Given the description of an element on the screen output the (x, y) to click on. 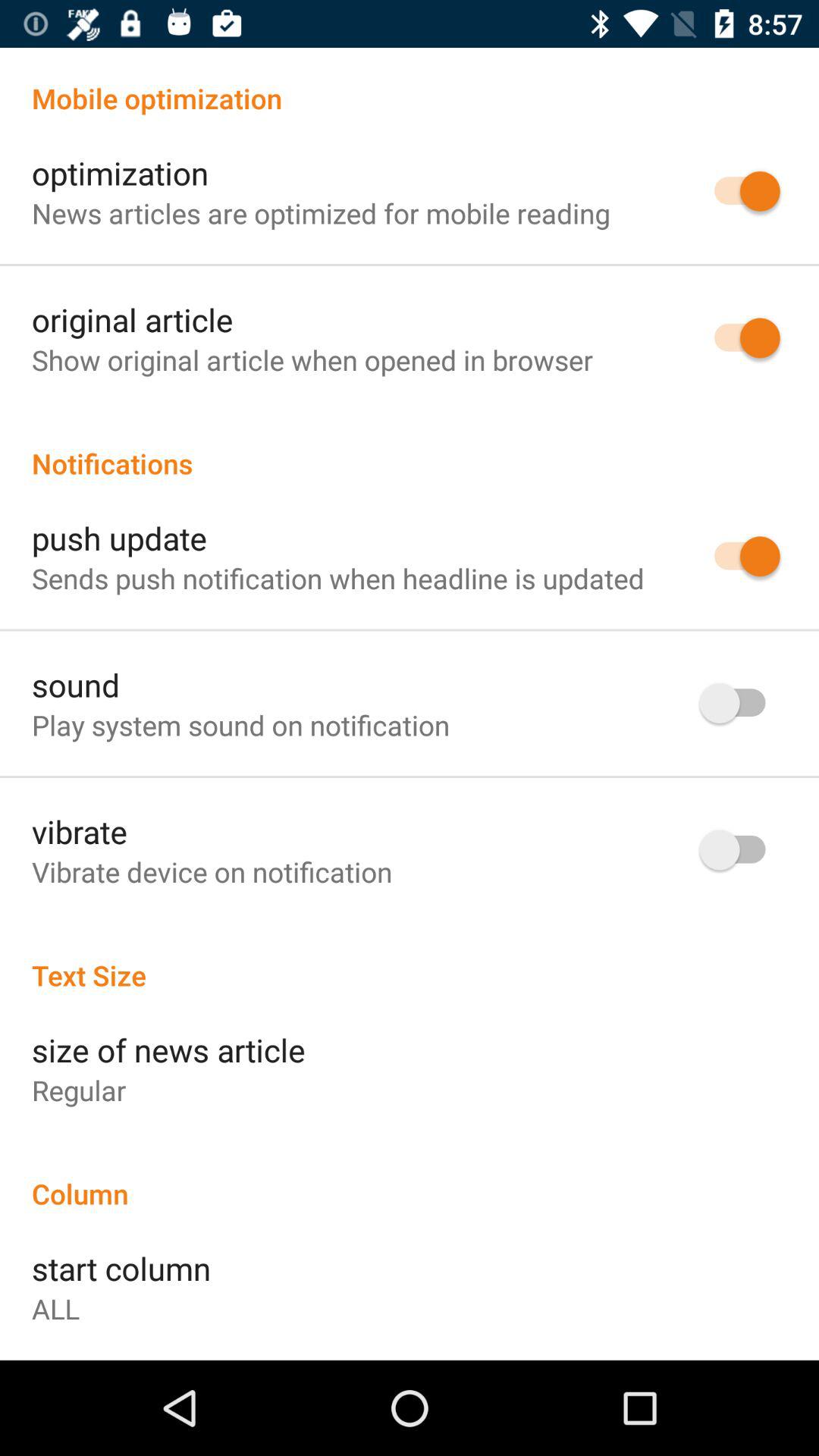
turn off sends push notification icon (337, 578)
